Given the description of an element on the screen output the (x, y) to click on. 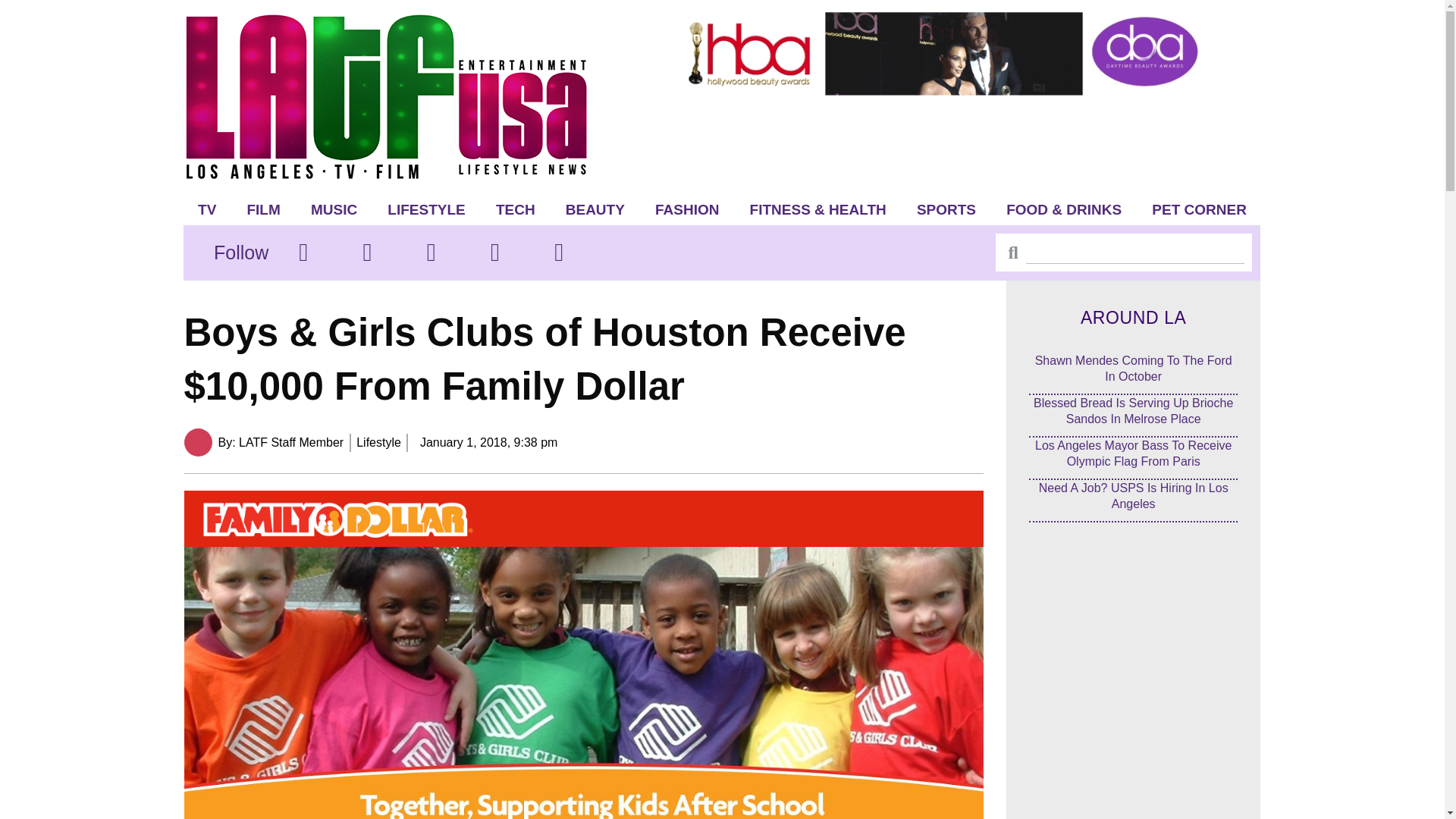
SPORTS (946, 209)
FILM (263, 209)
TV (207, 209)
BEAUTY (595, 209)
LIFESTYLE (426, 209)
TECH (515, 209)
FASHION (687, 209)
PET CORNER (1199, 209)
MUSIC (333, 209)
